Given the description of an element on the screen output the (x, y) to click on. 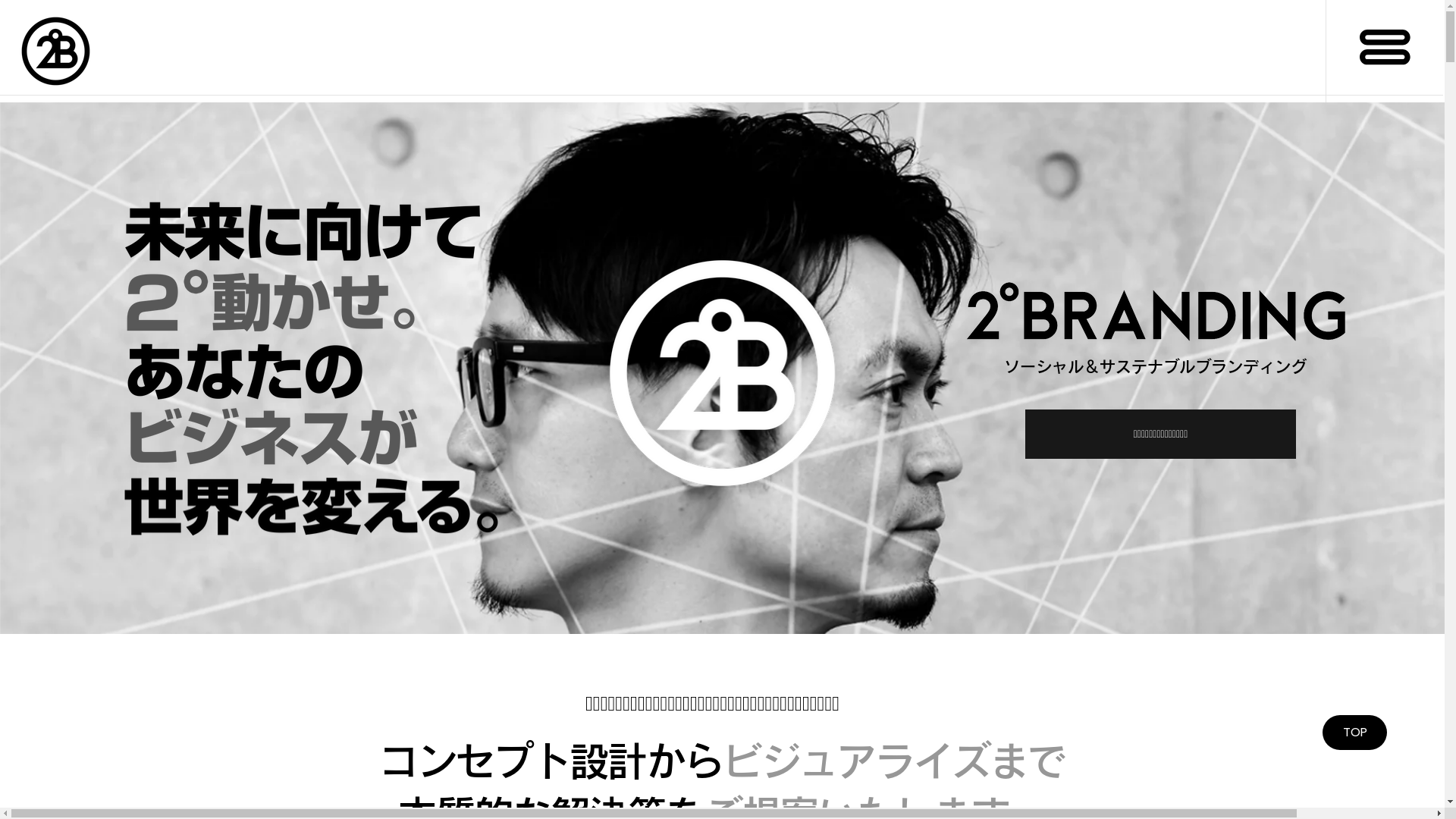
TOP Element type: text (1354, 732)
